Given the description of an element on the screen output the (x, y) to click on. 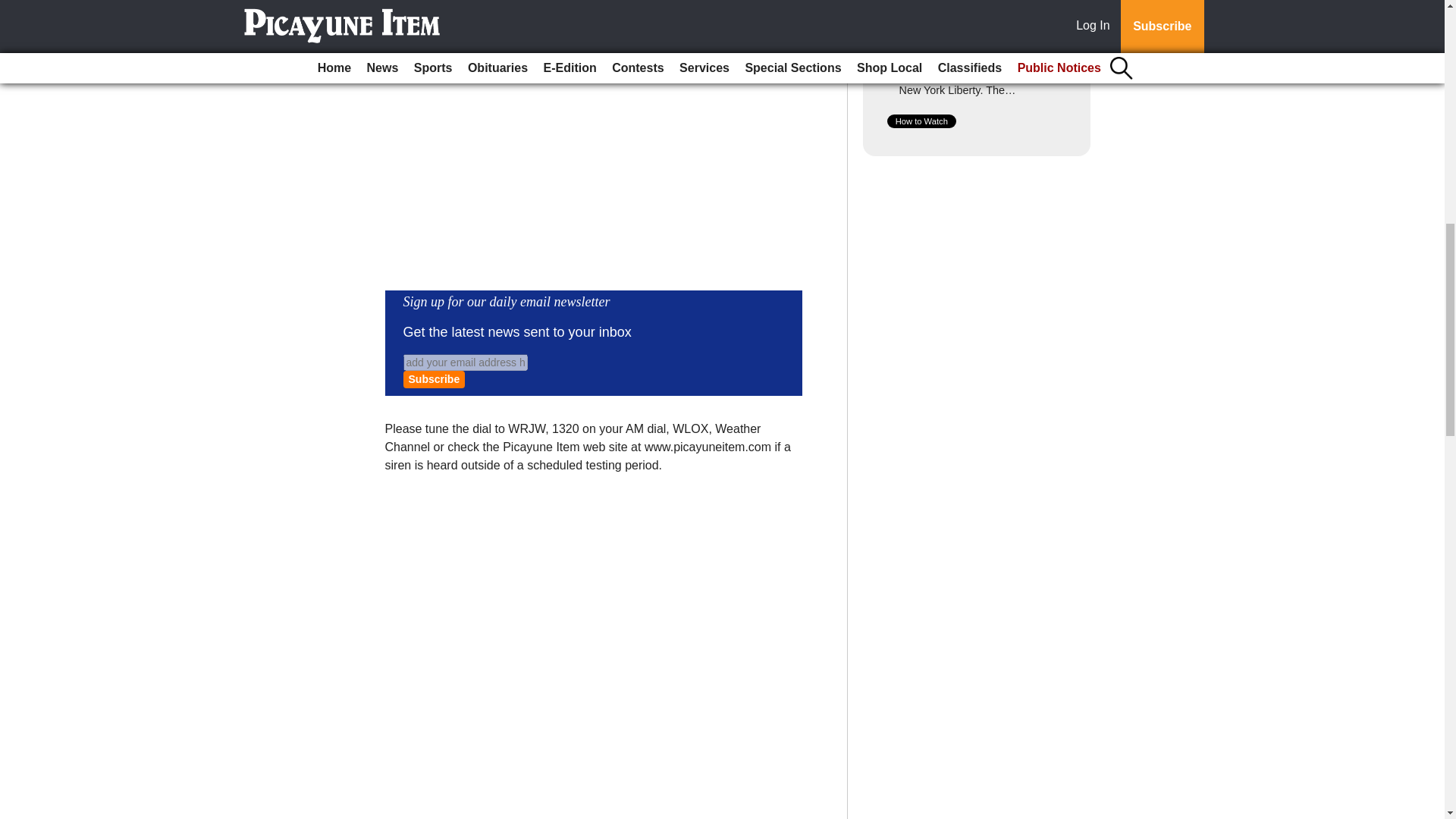
Subscribe (434, 379)
Subscribe (434, 379)
